Given the description of an element on the screen output the (x, y) to click on. 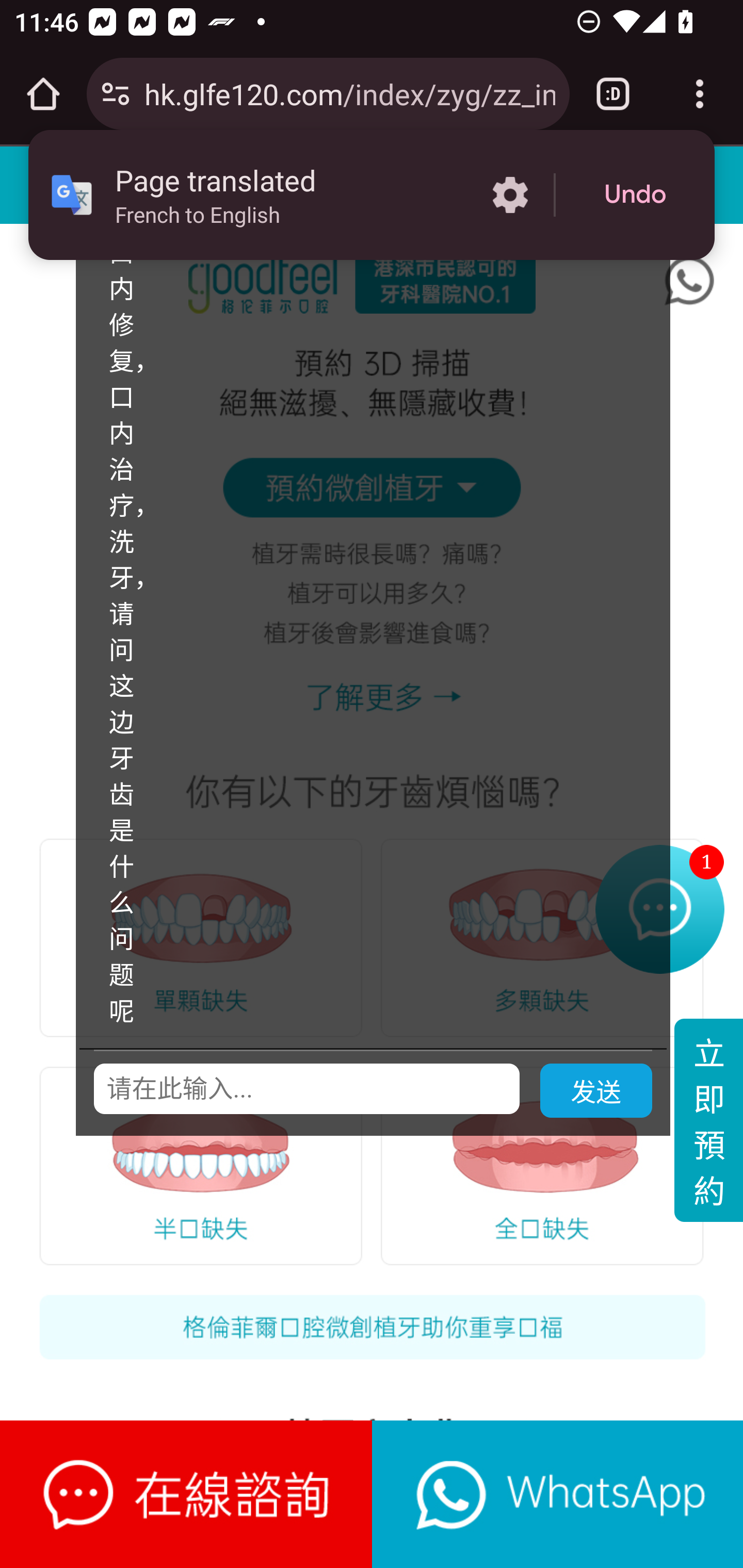
Open the home page (43, 93)
Connection is secure (115, 93)
Switch or close tabs (612, 93)
Customize and control Google Chrome (699, 93)
Undo (634, 195)
More options in the Page translated (509, 195)
立 即 預 約 立 即 預 約 (708, 1121)
发送 (596, 1091)
javascript:lrminiMax(); (186, 1494)
javascript:addMessage(); (557, 1494)
